Given the description of an element on the screen output the (x, y) to click on. 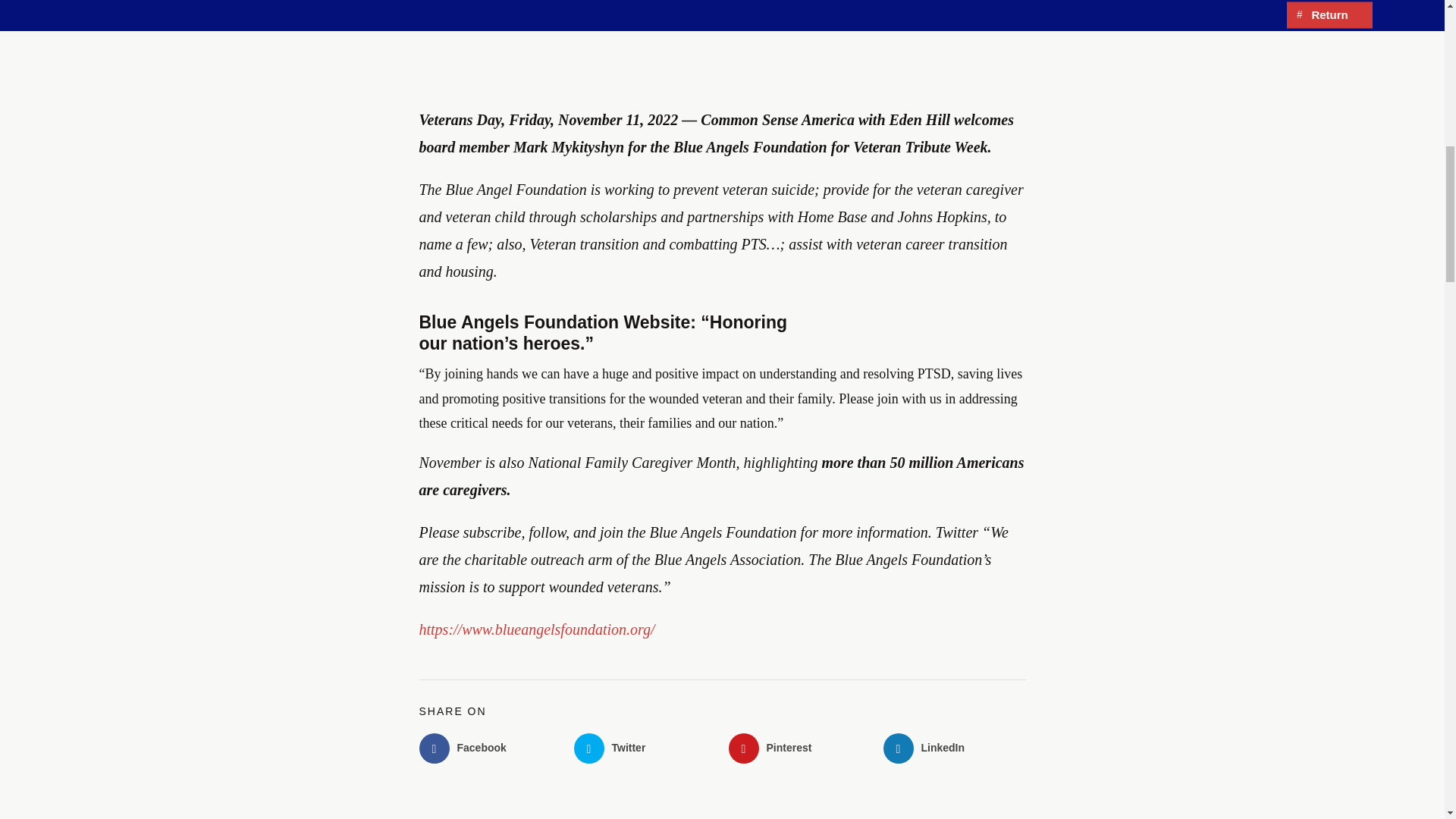
LinkedIn (953, 748)
Facebook (489, 748)
Twitter (644, 748)
Pinterest (799, 748)
